Given the description of an element on the screen output the (x, y) to click on. 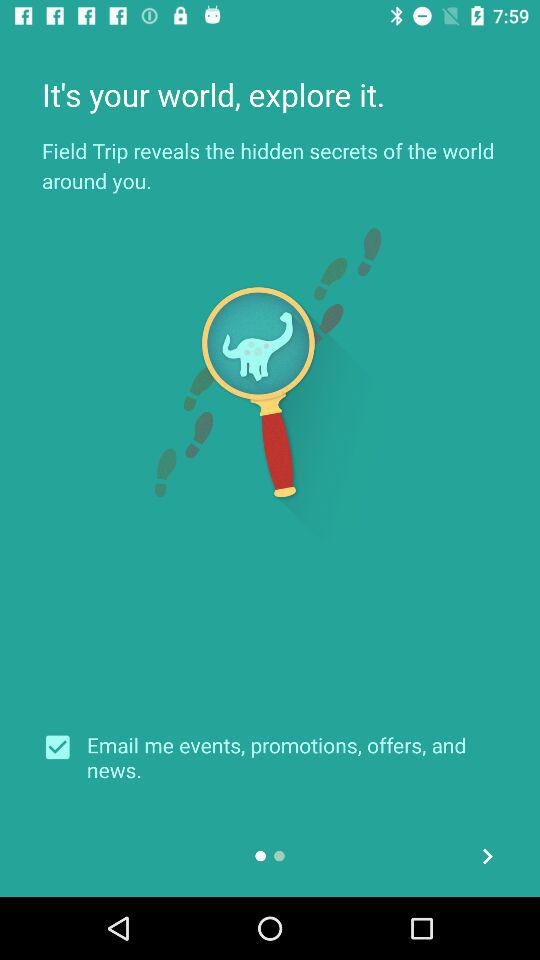
next page (487, 856)
